Given the description of an element on the screen output the (x, y) to click on. 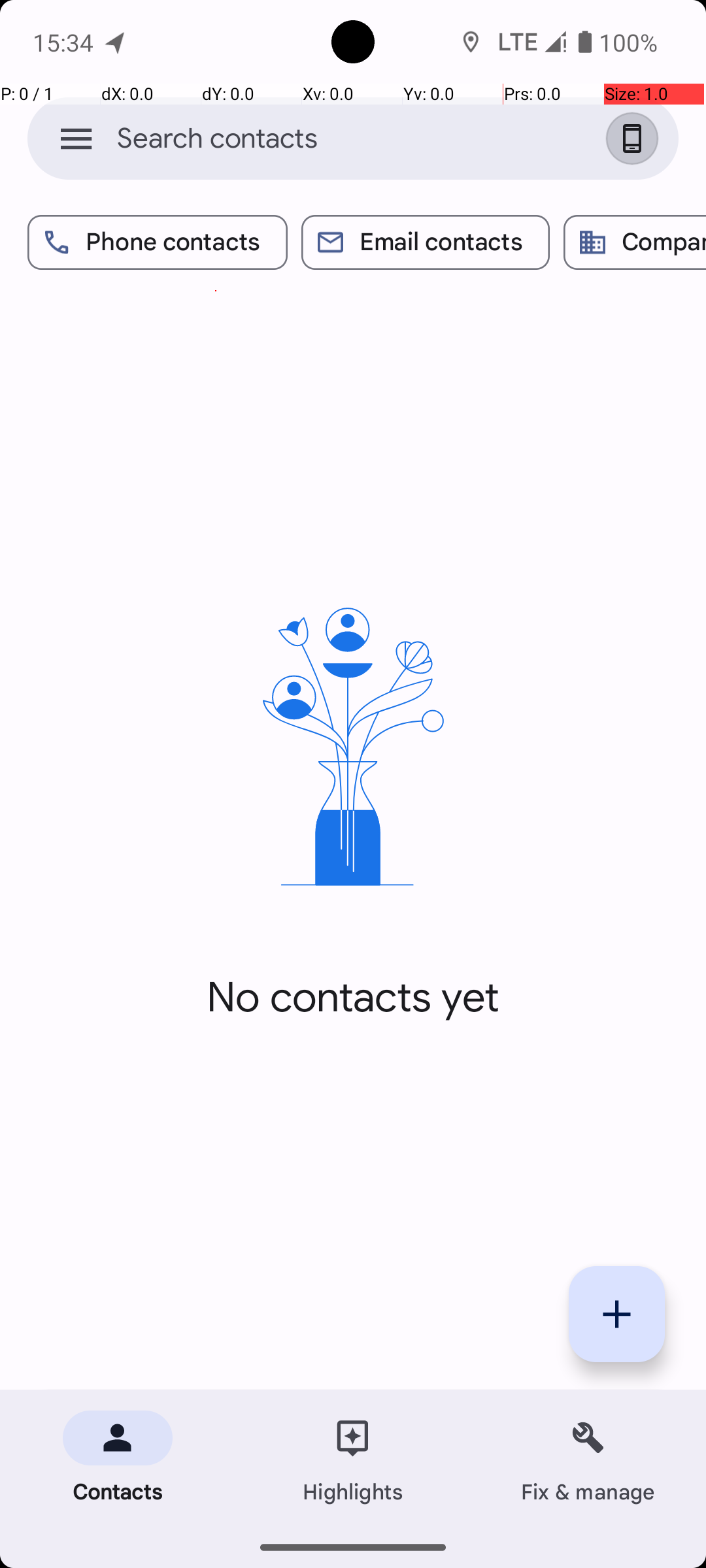
No contacts yet Element type: android.widget.TextView (353, 997)
